Given the description of an element on the screen output the (x, y) to click on. 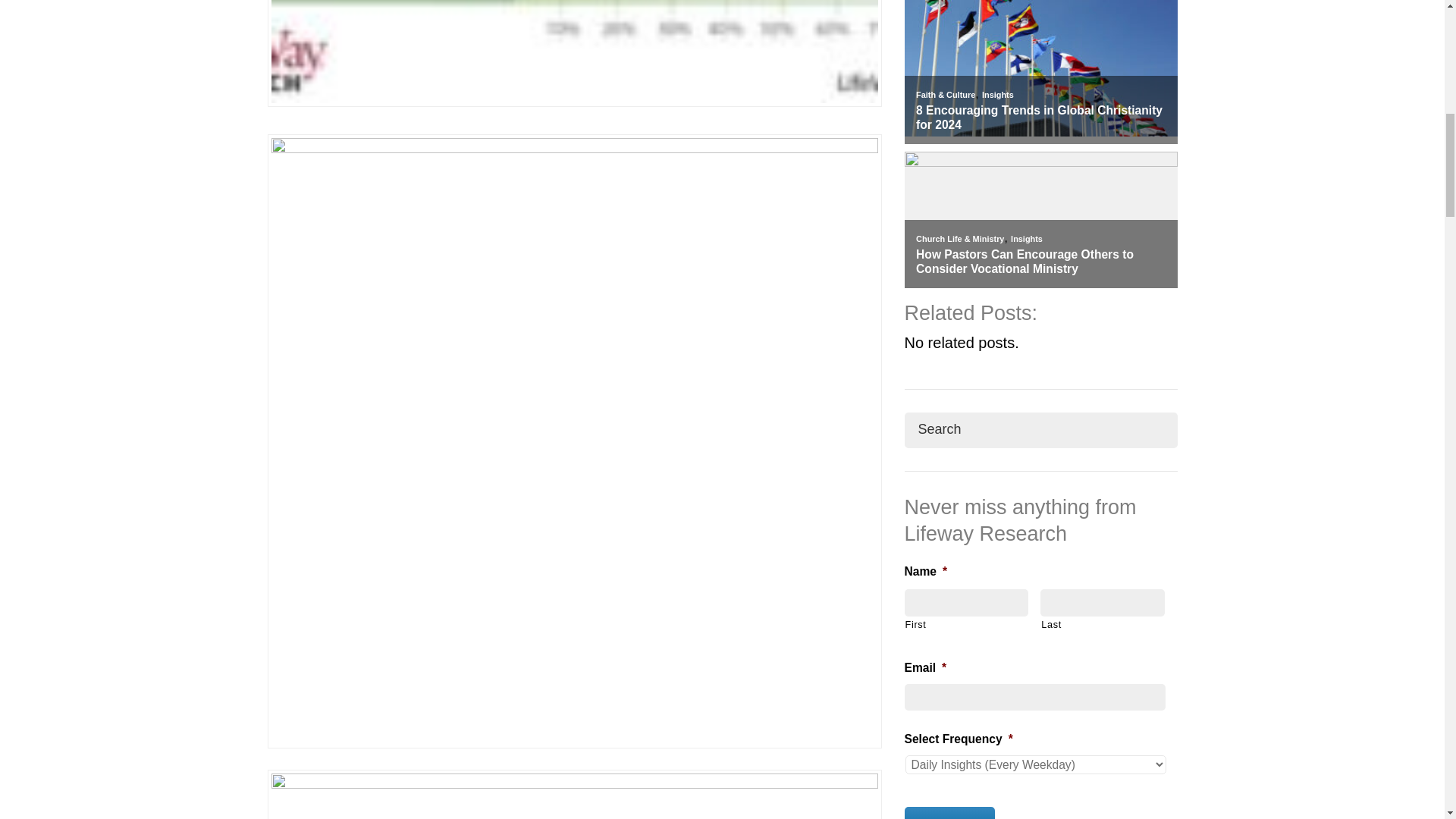
Submit (949, 812)
